Given the description of an element on the screen output the (x, y) to click on. 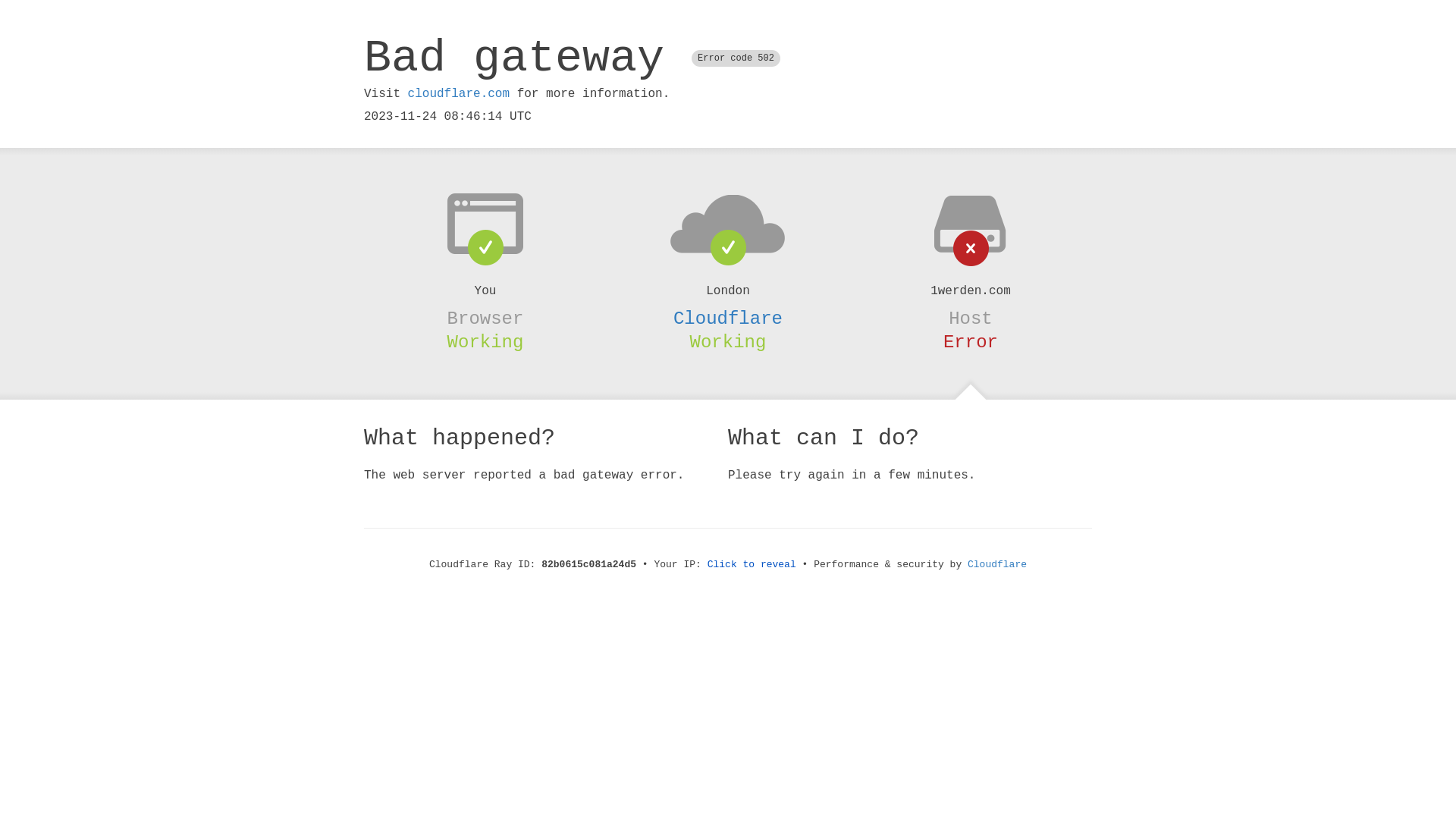
cloudflare.com Element type: text (458, 93)
Cloudflare Element type: text (996, 564)
Cloudflare Element type: text (727, 318)
Click to reveal Element type: text (751, 564)
